Given the description of an element on the screen output the (x, y) to click on. 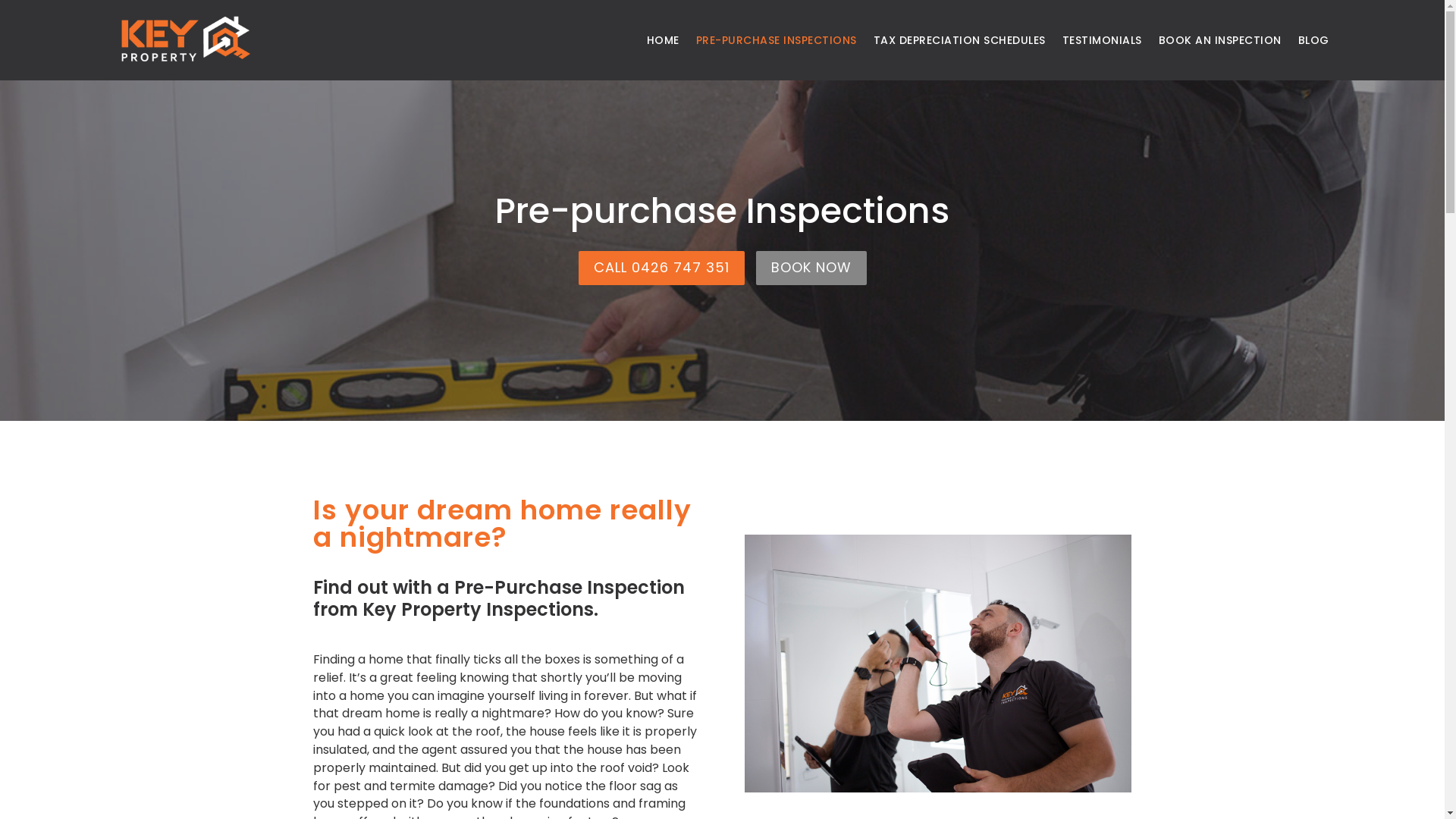
CALL 0426 747 351 Element type: text (660, 268)
BOOK NOW Element type: text (810, 268)
BOOK AN INSPECTION Element type: text (1219, 40)
TESTIMONIALS Element type: text (1101, 40)
HOME Element type: text (662, 40)
BLOG Element type: text (1313, 40)
PRE-PURCHASE INSPECTIONS Element type: text (776, 40)
TAX DEPRECIATION SCHEDULES Element type: text (959, 40)
